Given the description of an element on the screen output the (x, y) to click on. 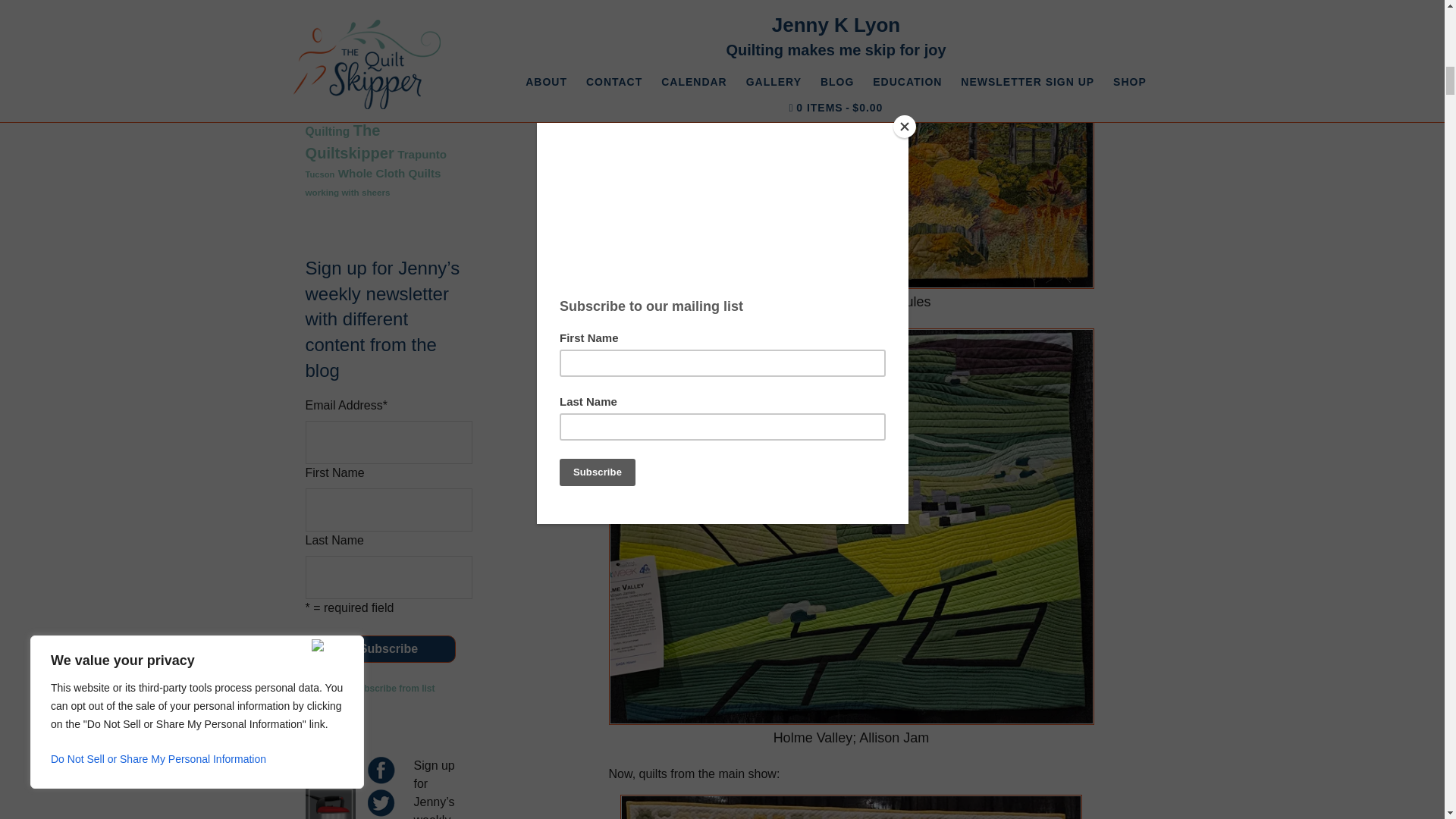
Subscribe (387, 648)
